Given the description of an element on the screen output the (x, y) to click on. 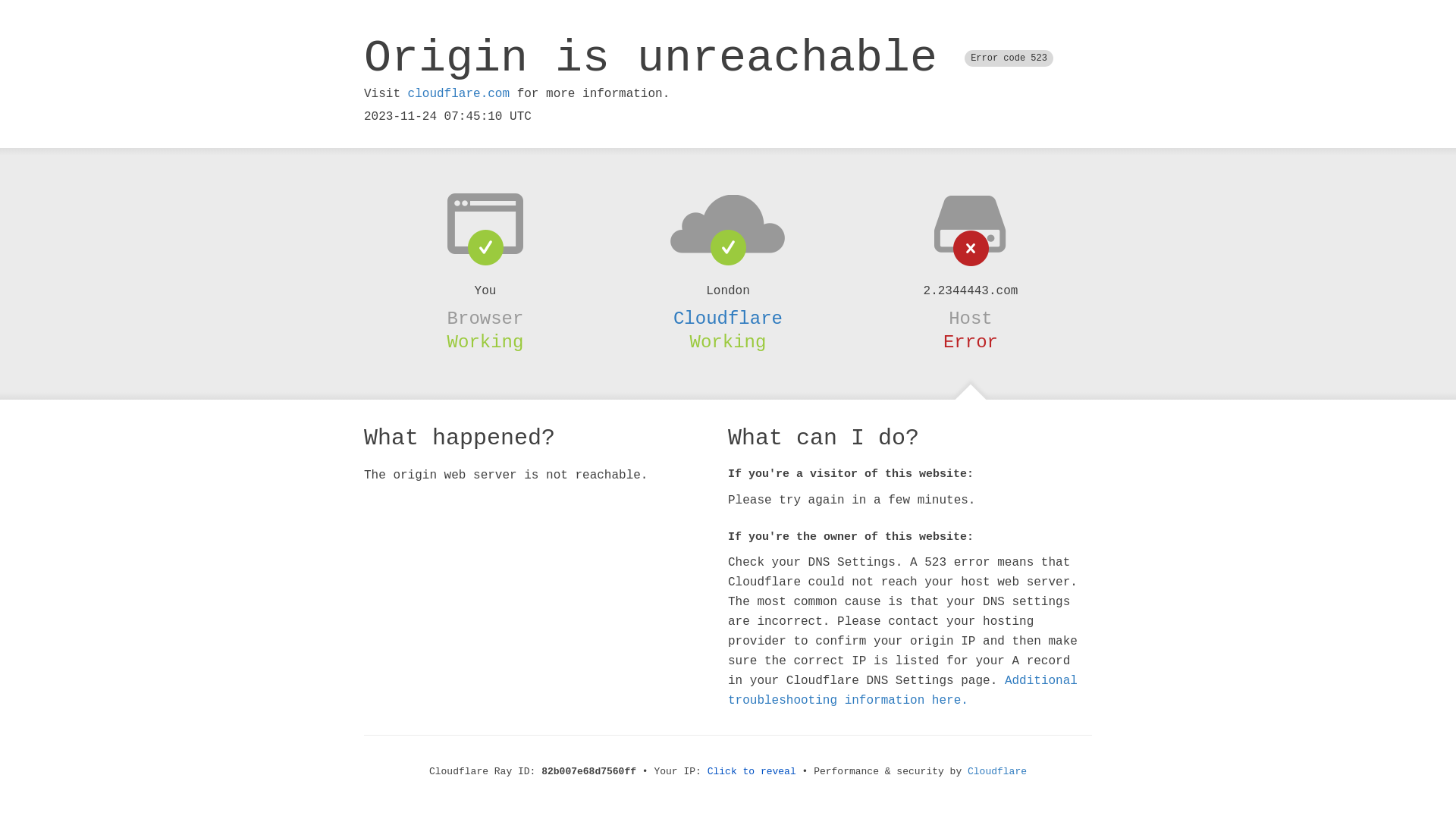
Cloudflare Element type: text (727, 318)
Click to reveal Element type: text (751, 771)
Additional troubleshooting information here. Element type: text (902, 690)
cloudflare.com Element type: text (458, 93)
Cloudflare Element type: text (996, 771)
